Given the description of an element on the screen output the (x, y) to click on. 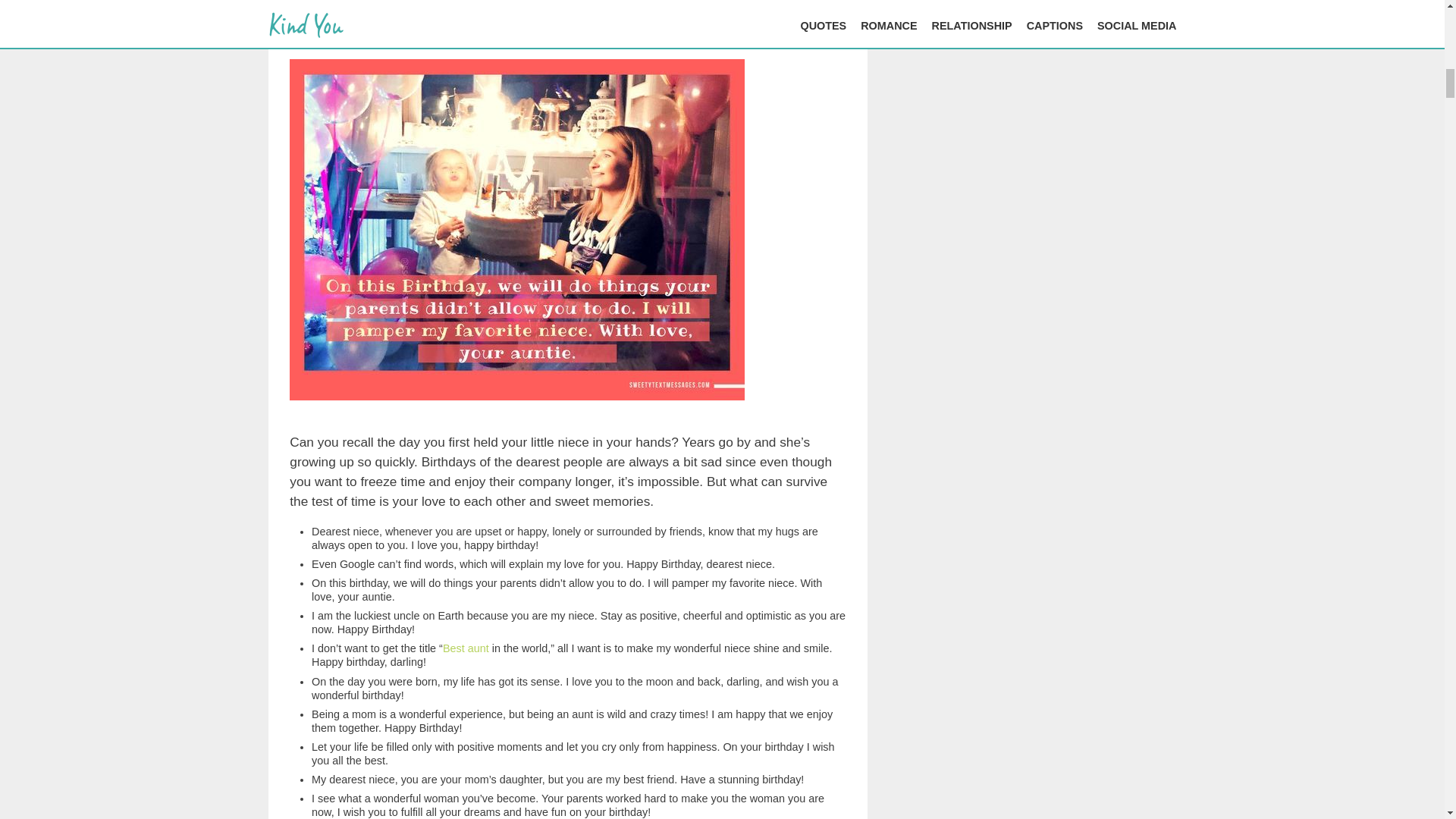
Best aunt (465, 648)
